Given the description of an element on the screen output the (x, y) to click on. 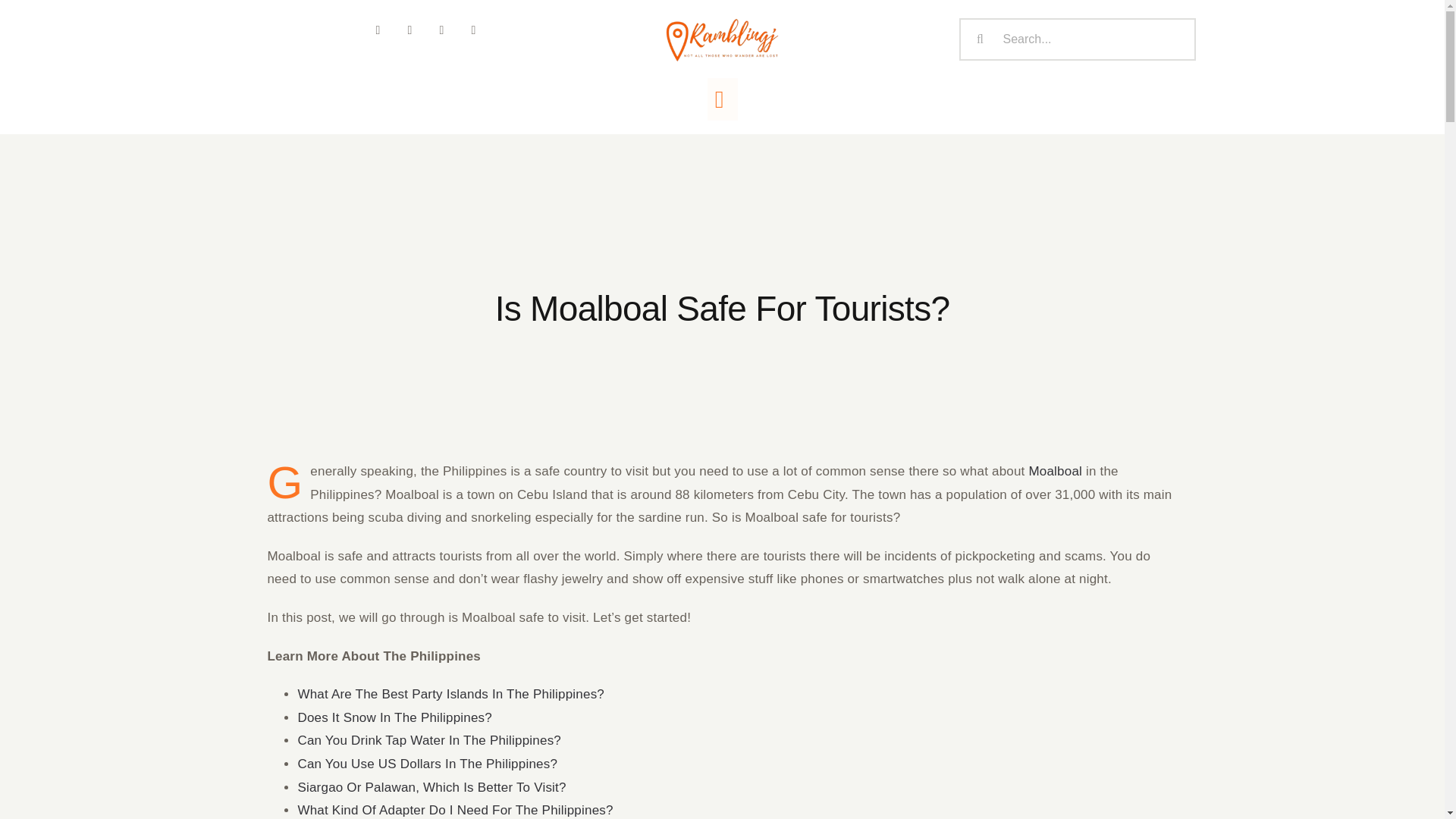
What Kind Of Adapter Do I Need For The Philippines? (454, 810)
What Are The Best Party Islands In The Philippines? (450, 694)
Does It Snow In The Philippines? (394, 717)
Siargao Or Palawan, Which Is Better To Visit? (431, 786)
Can You Use US Dollars In The Philippines? (427, 763)
Can You Drink Tap Water In The Philippines? (428, 740)
Moalboal (1054, 471)
